Given the description of an element on the screen output the (x, y) to click on. 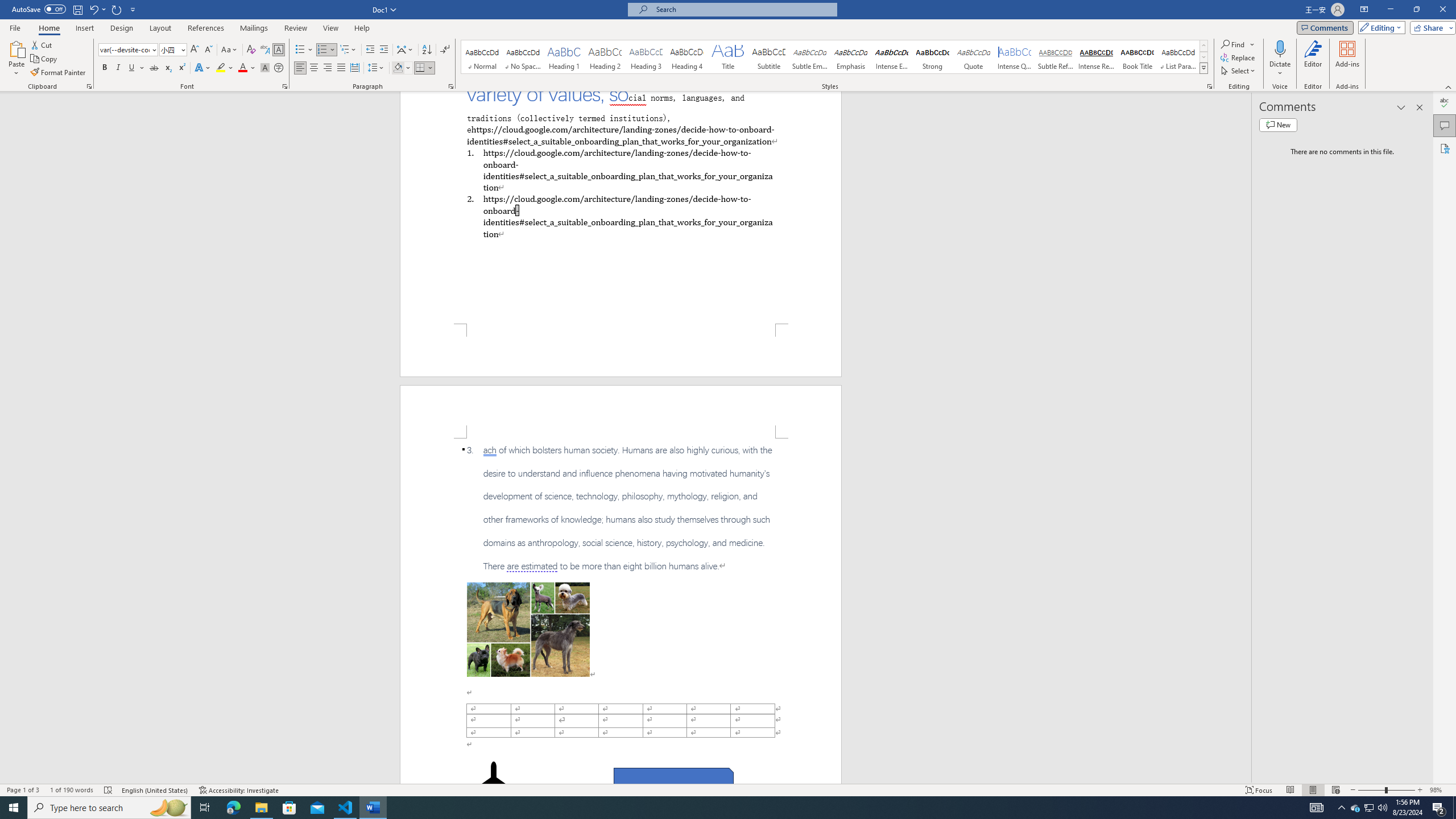
Font Color (246, 67)
Text Effects and Typography (202, 67)
Distributed (354, 67)
Line and Paragraph Spacing (376, 67)
Accessibility Checker Accessibility: Investigate (239, 790)
Heading 2 (605, 56)
Intense Emphasis (891, 56)
Shading RGB(0, 0, 0) (397, 67)
Italic (118, 67)
Emphasis (849, 56)
